Given the description of an element on the screen output the (x, y) to click on. 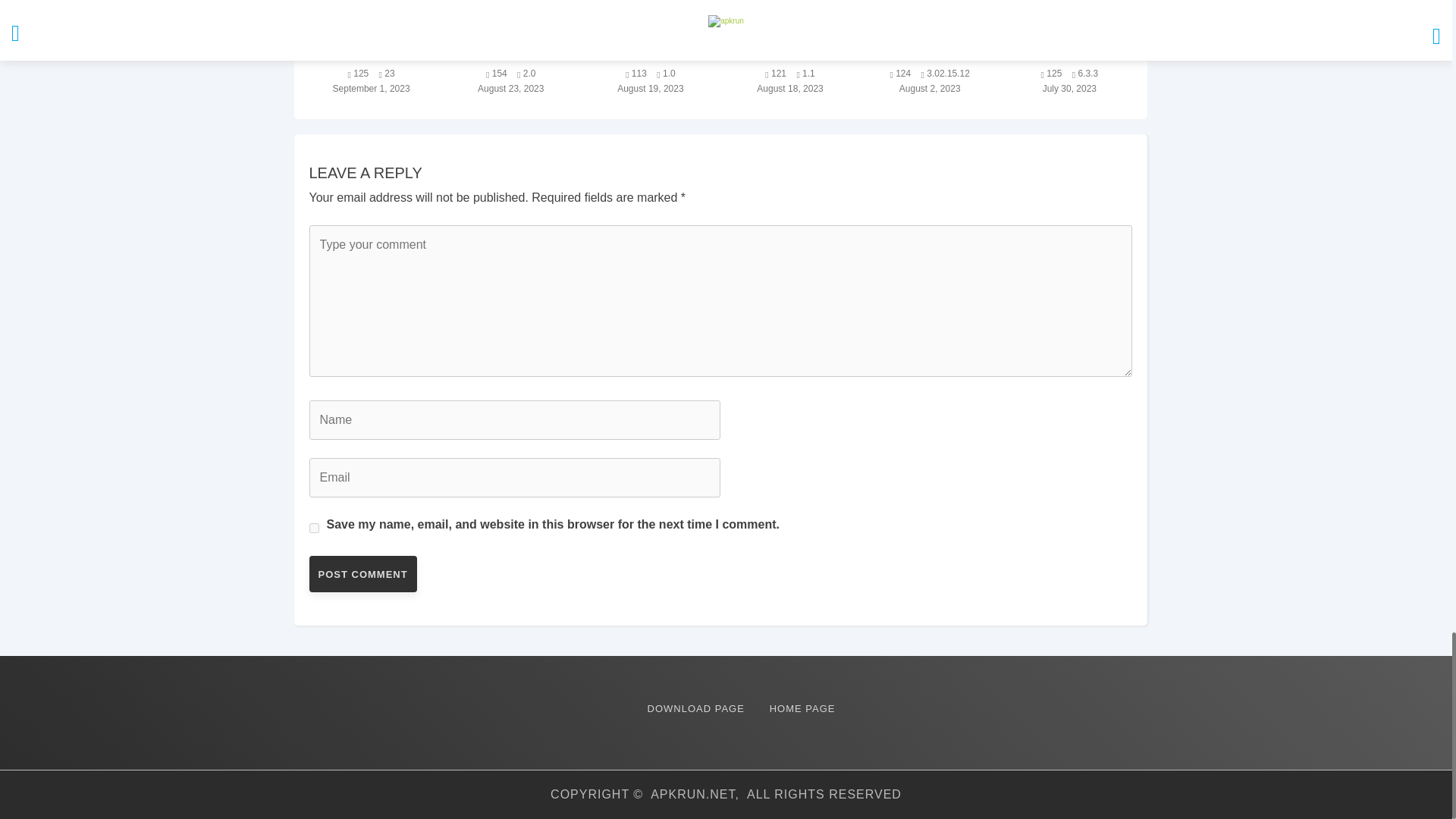
HOME PAGE (802, 708)
Apple Pie (650, 54)
Fire Kirin (371, 54)
Video Star (790, 54)
Learn The Heart (510, 54)
Leo Playcard (929, 54)
Post Comment (362, 574)
Private Zone (1068, 54)
DOWNLOAD PAGE (695, 708)
Post Comment (362, 574)
